Given the description of an element on the screen output the (x, y) to click on. 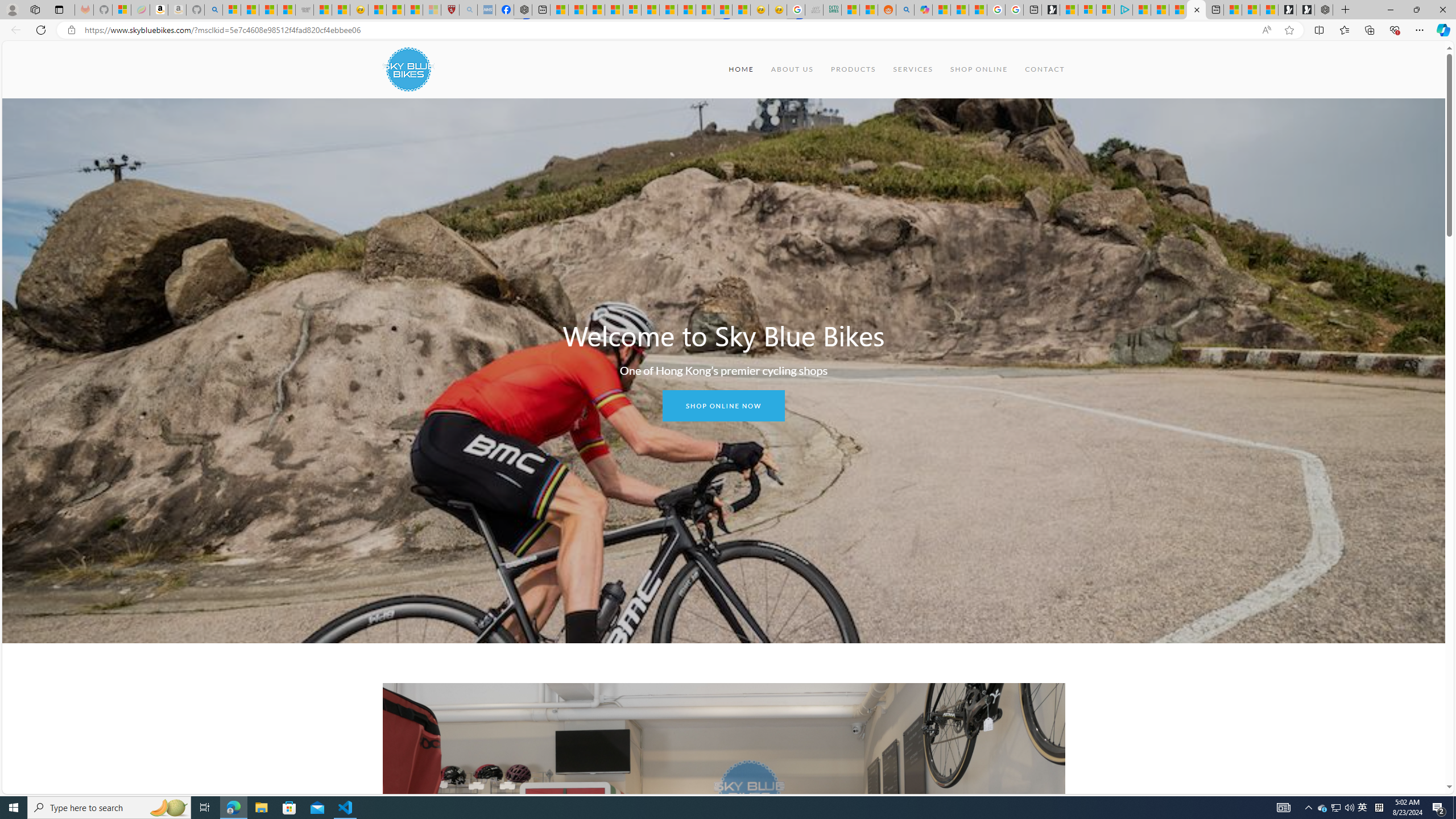
PRODUCTS (853, 68)
Nordace - Nordace Siena Is Not An Ordinary Backpack (1324, 9)
Utah sues federal government - Search (904, 9)
SHOP ONLINE (978, 68)
SERVICES (912, 68)
